Given the description of an element on the screen output the (x, y) to click on. 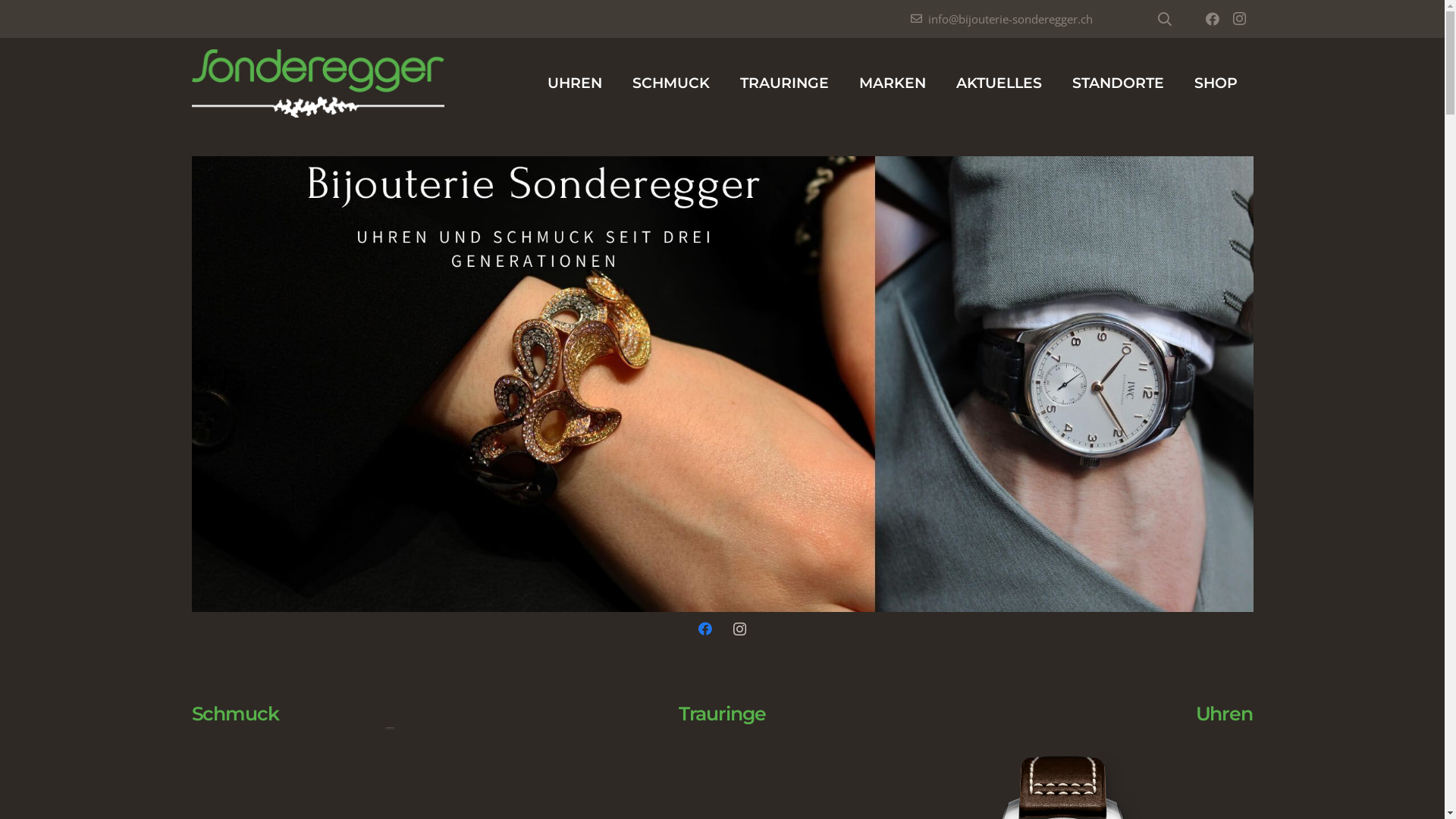
TRAURINGE Element type: text (784, 82)
Facebook Element type: hover (1211, 18)
Schmuck Element type: text (235, 713)
SHOP Element type: text (1215, 82)
Instagram Element type: hover (1238, 18)
MARKEN Element type: text (892, 82)
STANDORTE Element type: text (1118, 82)
Facebook Element type: hover (705, 628)
UHREN Element type: text (574, 82)
Instagram Element type: hover (738, 628)
SCHMUCK Element type: text (670, 82)
Uhren Element type: text (1223, 713)
info@bijouterie-sonderegger.ch Element type: text (1001, 18)
AKTUELLES Element type: text (999, 82)
Trauringe Element type: text (722, 713)
